Given the description of an element on the screen output the (x, y) to click on. 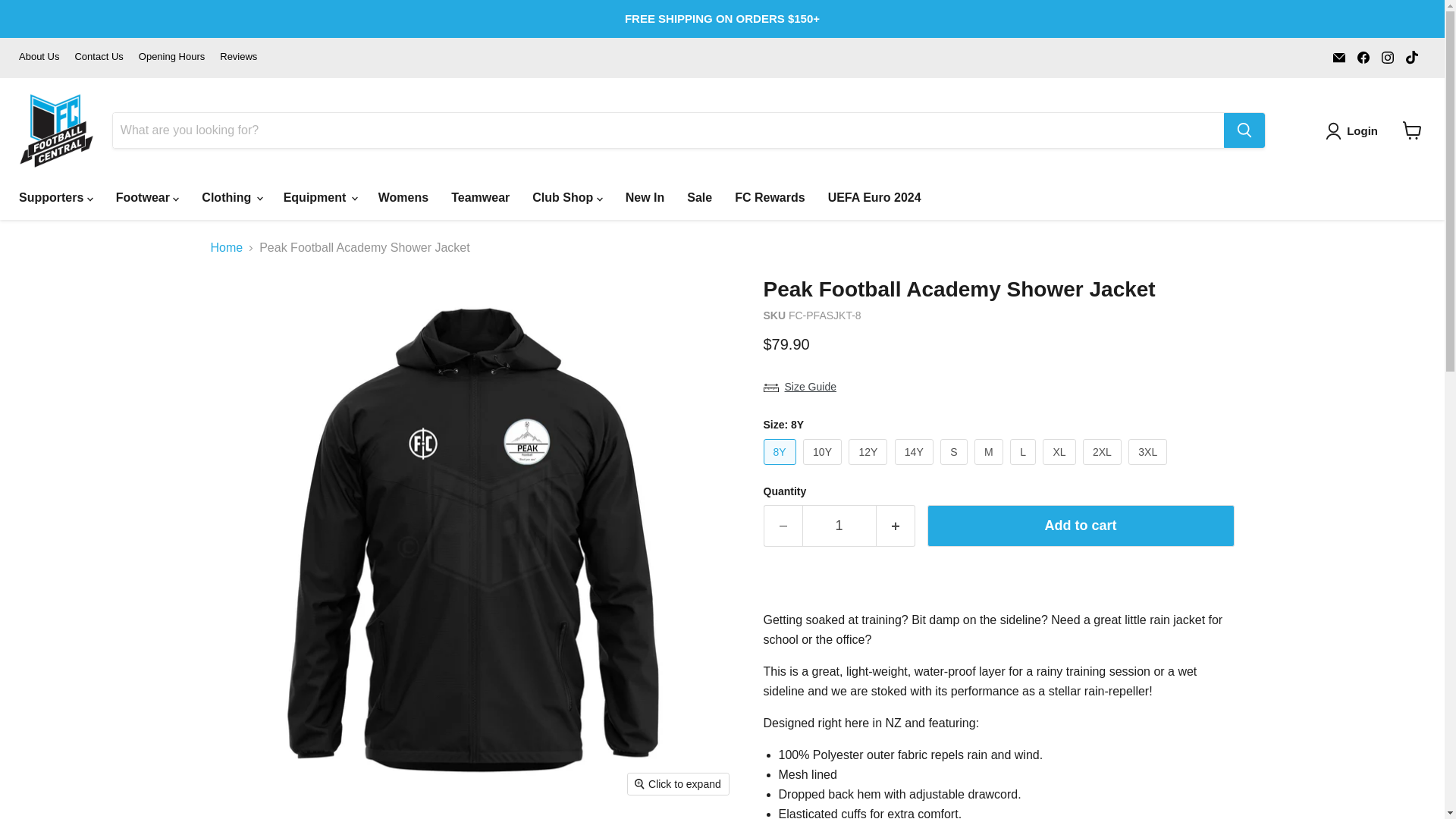
Login (1354, 130)
Facebook (1363, 56)
Opening Hours (171, 57)
About Us (38, 57)
1 (839, 526)
Find us on Instagram (1387, 56)
TikTok (1411, 56)
Reviews (238, 57)
Find us on Facebook (1363, 56)
Email (1338, 56)
View cart (1411, 130)
Instagram (1387, 56)
Email Football Central (1338, 56)
Contact Us (98, 57)
Find us on TikTok (1411, 56)
